Given the description of an element on the screen output the (x, y) to click on. 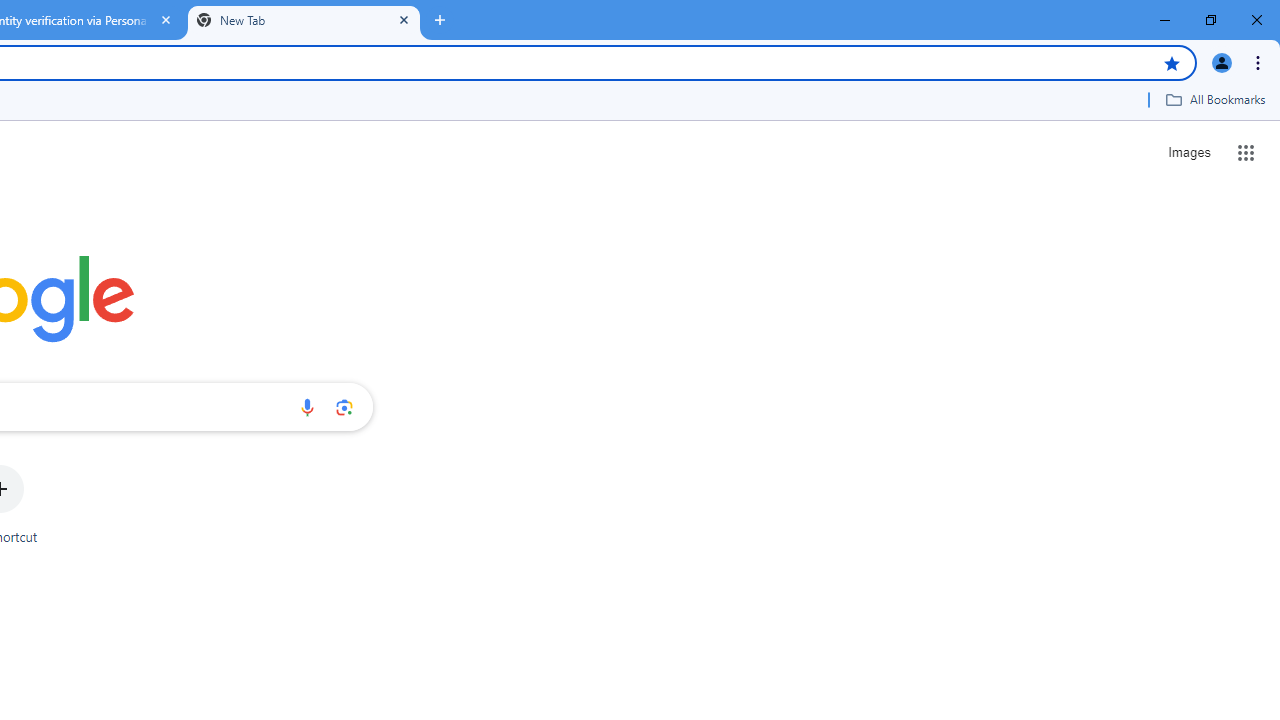
New Tab (440, 20)
Minimize (1165, 20)
Restore (1210, 20)
Bookmark this tab (1171, 62)
Search by voice (307, 407)
You (1221, 62)
Google apps (1245, 152)
All Bookmarks (1215, 99)
Search by image (344, 407)
Chrome (1260, 62)
Close (404, 19)
Search for Images  (1188, 152)
New Tab (304, 20)
